Given the description of an element on the screen output the (x, y) to click on. 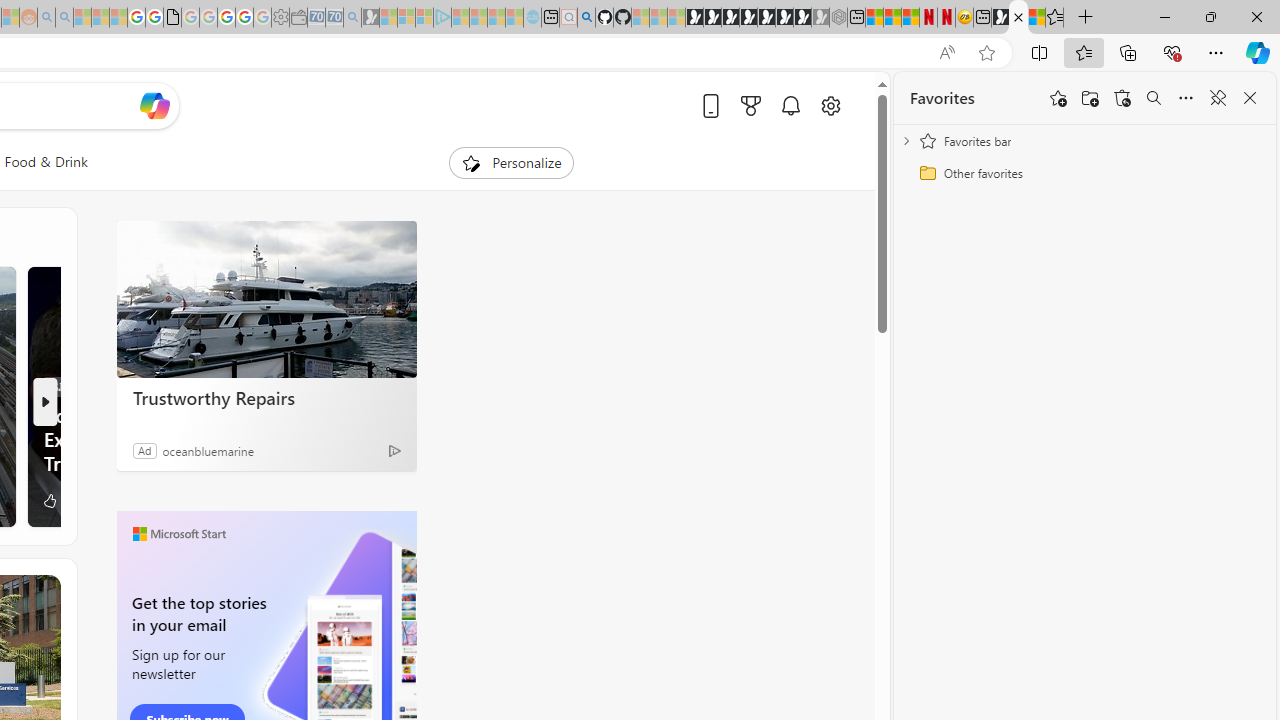
github - Search (586, 17)
Add folder (1089, 98)
Trustworthy Repairs (266, 299)
